Given the description of an element on the screen output the (x, y) to click on. 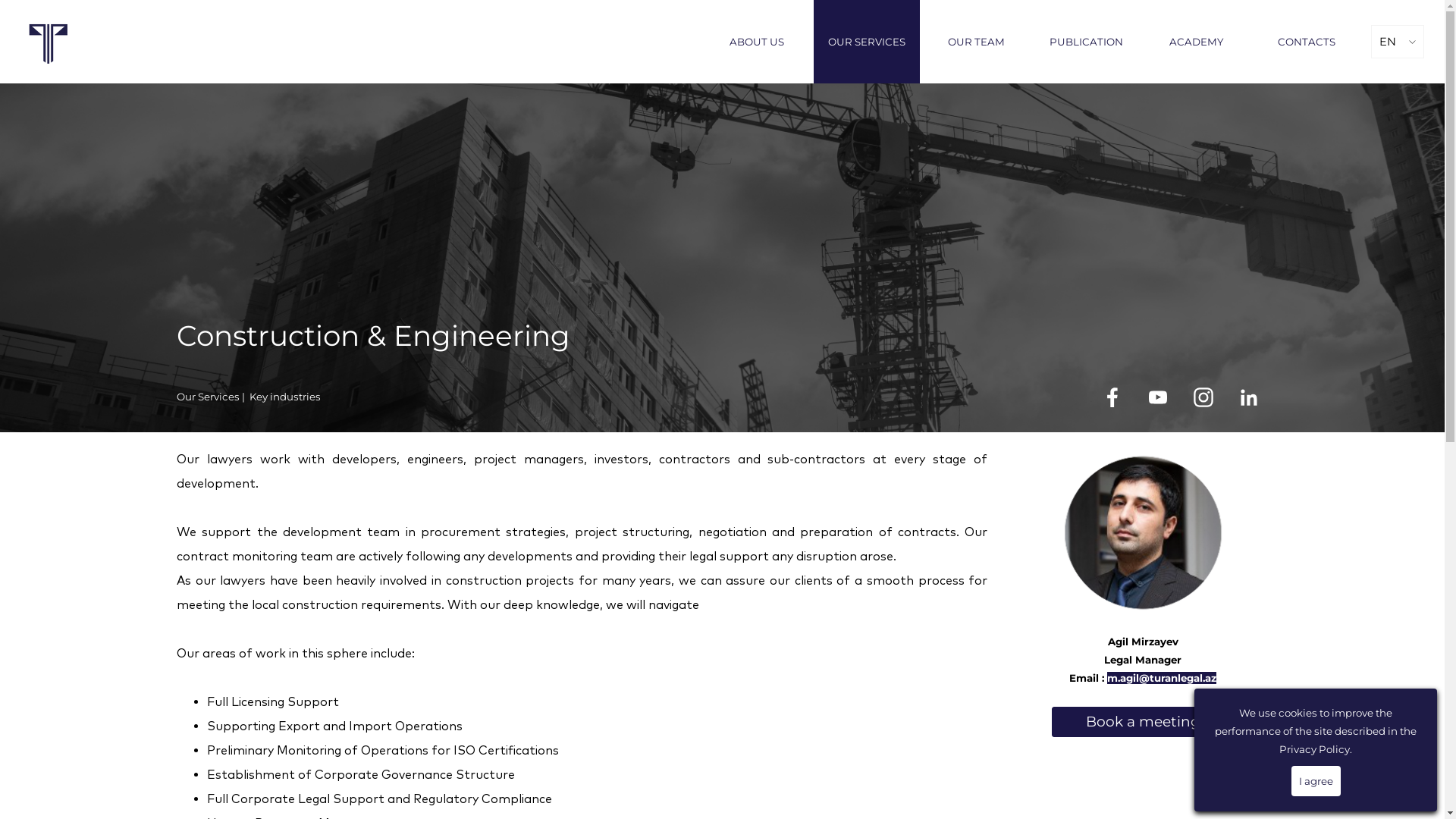
OUR TEAM Element type: text (975, 41)
OUR SERVICES Element type: text (866, 41)
PUBLICATION Element type: text (1086, 41)
EN Element type: text (1396, 41)
Click me Element type: text (47, 65)
Book a meeting Element type: text (1142, 721)
ACADEMY Element type: text (1195, 41)
m.agil@turanlegal.az Element type: text (1161, 677)
CONTACTS Element type: text (1306, 41)
ABOUT US Element type: text (755, 41)
Privacy Policy. Element type: text (1315, 749)
